Given the description of an element on the screen output the (x, y) to click on. 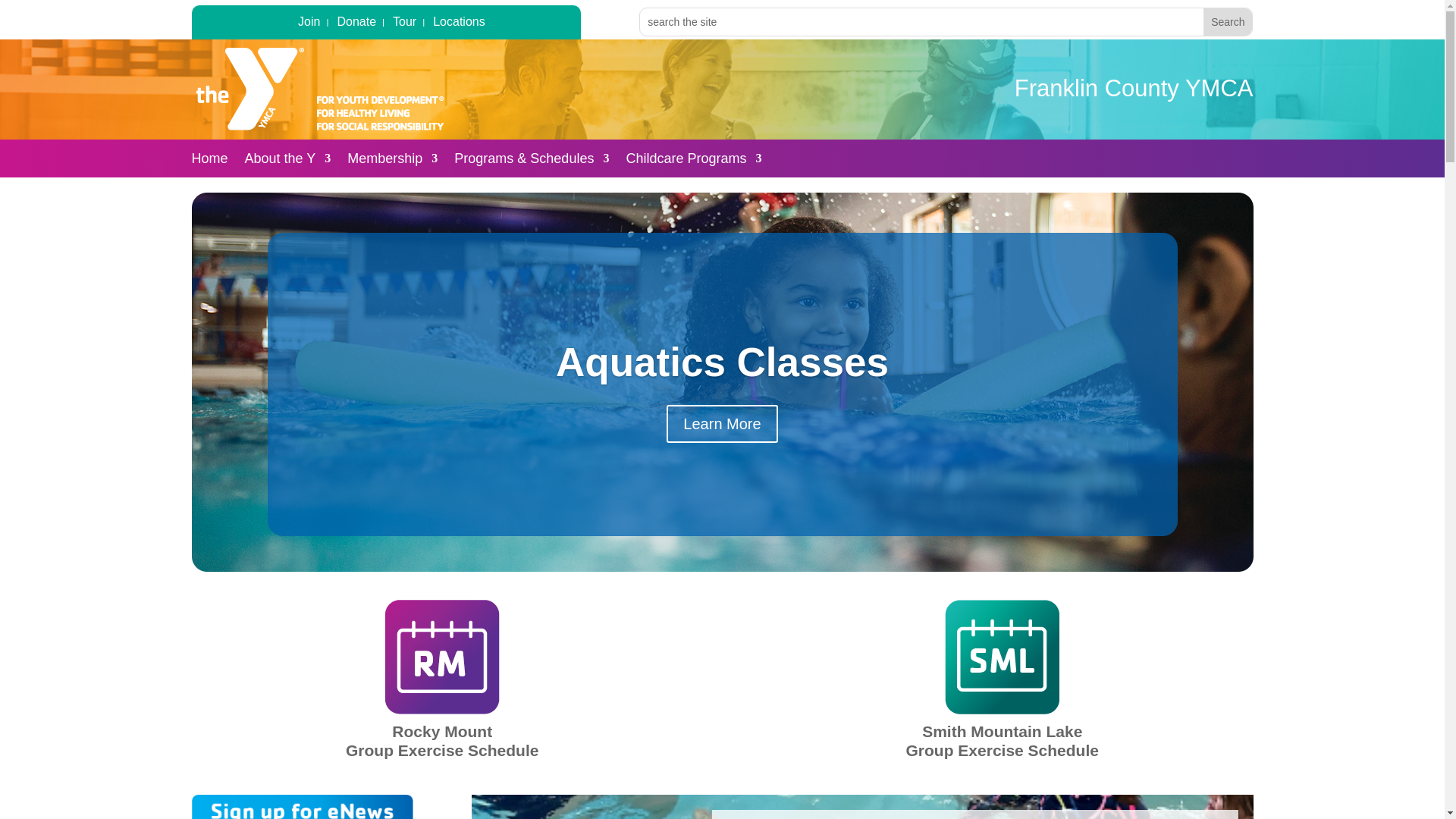
About the Y (287, 161)
Home (208, 161)
Donate (355, 25)
Search (1228, 22)
Search (1228, 22)
Locations (458, 25)
Membership (392, 161)
Childcare Programs (693, 161)
Search (1228, 22)
